Given the description of an element on the screen output the (x, y) to click on. 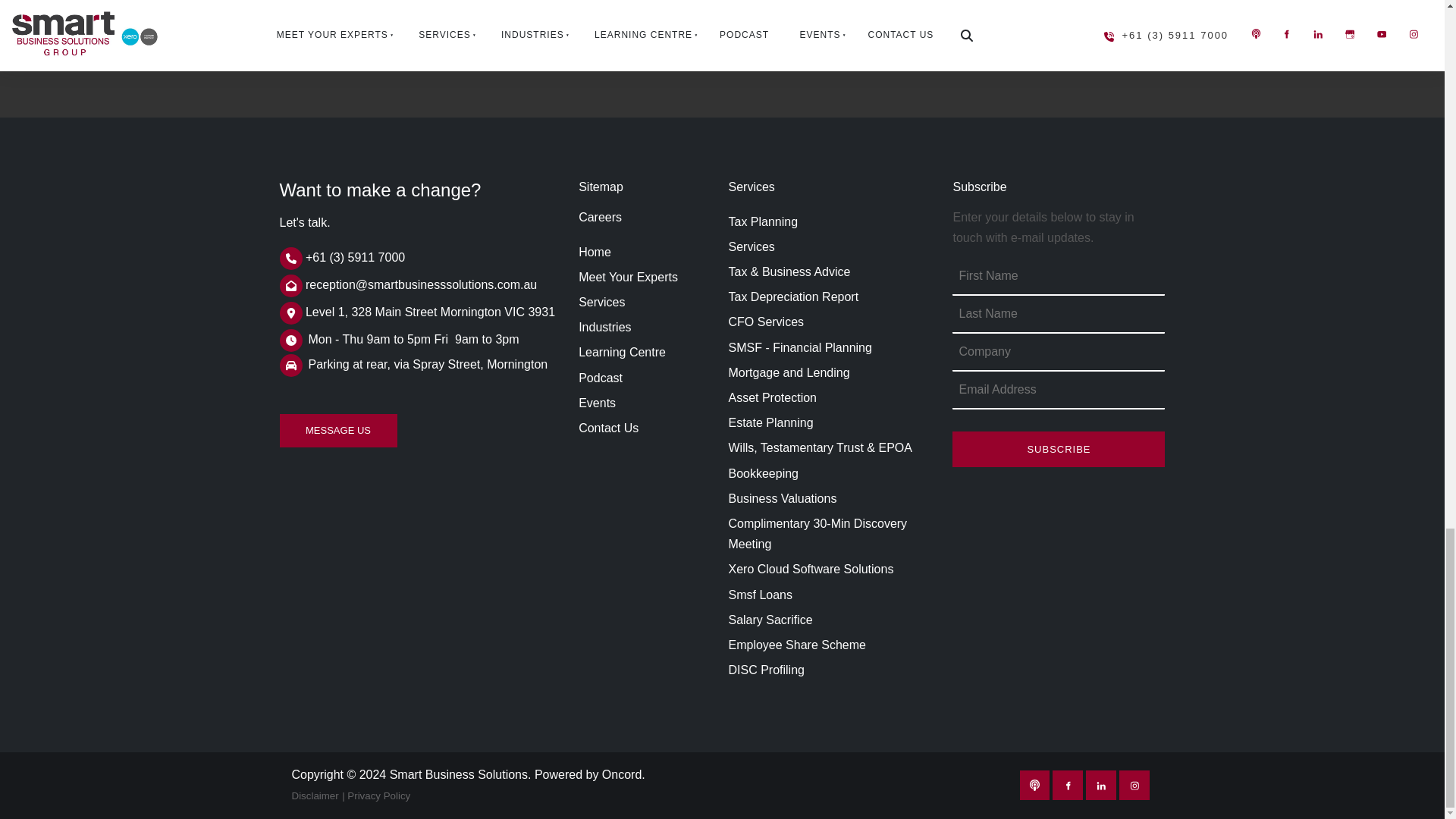
Instagram (1134, 785)
LinkedIn (1101, 785)
Facebook (1067, 785)
